Given the description of an element on the screen output the (x, y) to click on. 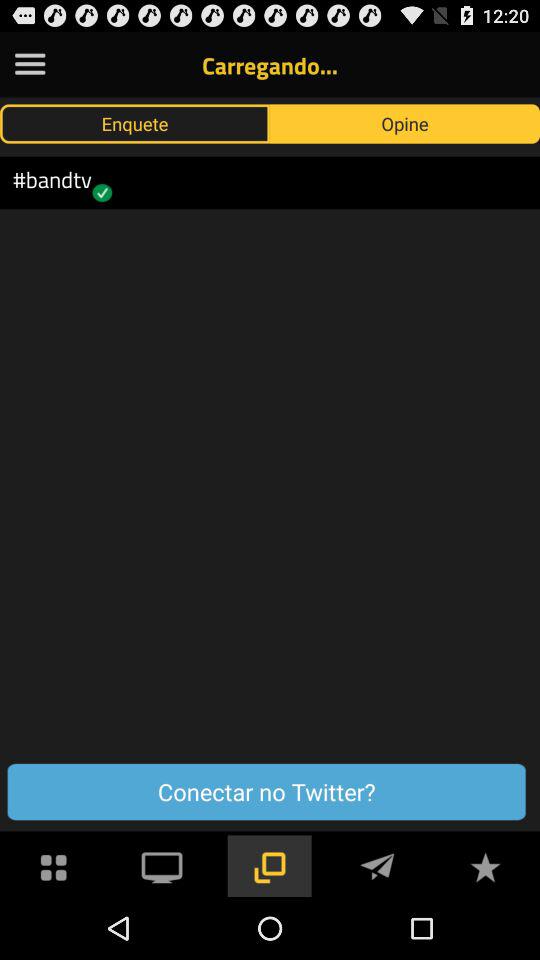
select button below the conectar no twitter? (377, 864)
